Given the description of an element on the screen output the (x, y) to click on. 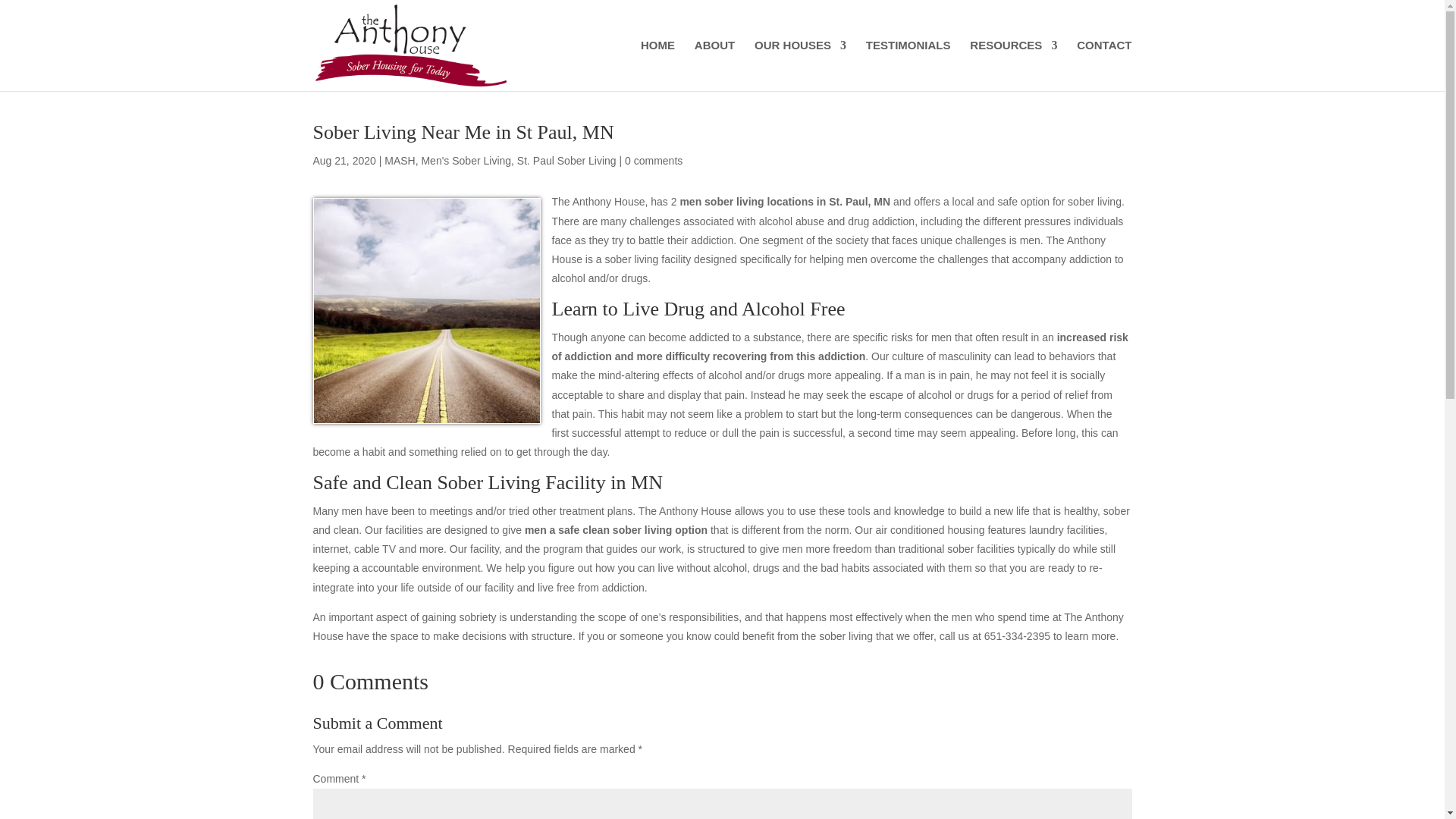
Sober Living Near Me in St Paul (426, 311)
TESTIMONIALS (908, 65)
OUR HOUSES (799, 65)
RESOURCES (1013, 65)
St. Paul Sober Living (565, 160)
Men's Sober Living (465, 160)
CONTACT (1104, 65)
0 comments (653, 160)
MASH (399, 160)
